Given the description of an element on the screen output the (x, y) to click on. 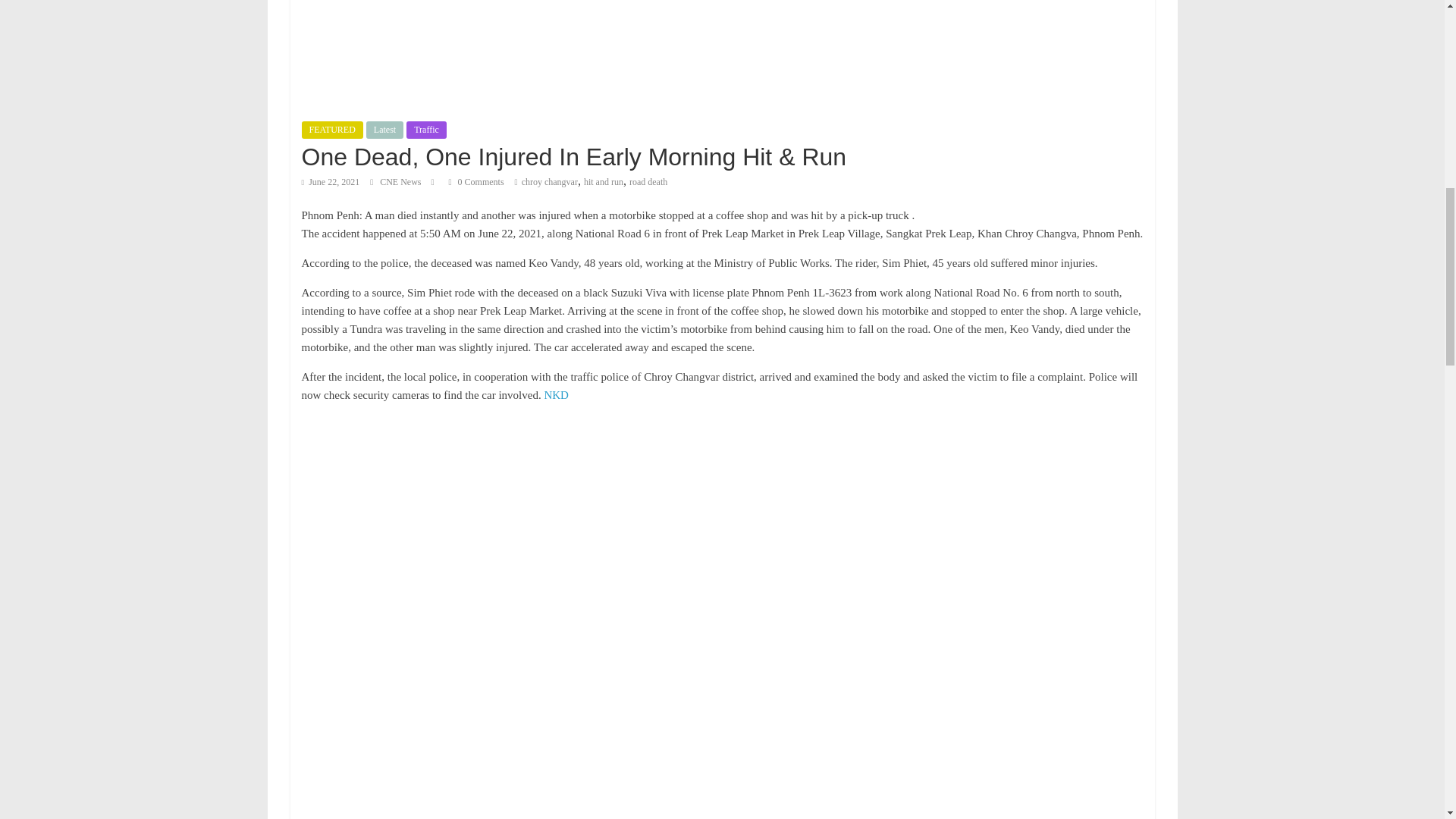
FEATURED (331, 129)
NKD (556, 395)
0 Comments (475, 181)
road death (647, 181)
June 22, 2021 (330, 181)
chroy changvar (549, 181)
Traffic (426, 129)
hit and run (603, 181)
9:56 am (330, 181)
CNE News (401, 181)
